Given the description of an element on the screen output the (x, y) to click on. 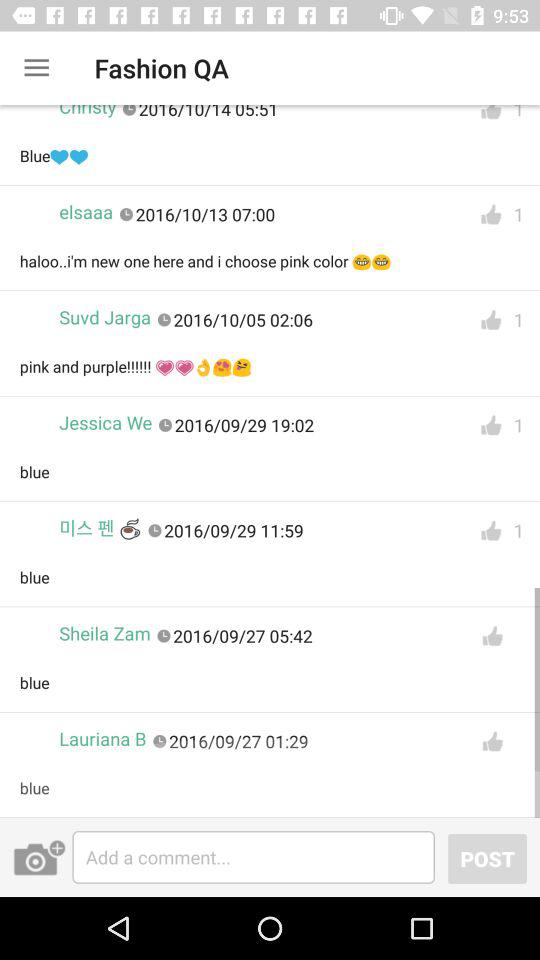
like comment (491, 425)
